Given the description of an element on the screen output the (x, y) to click on. 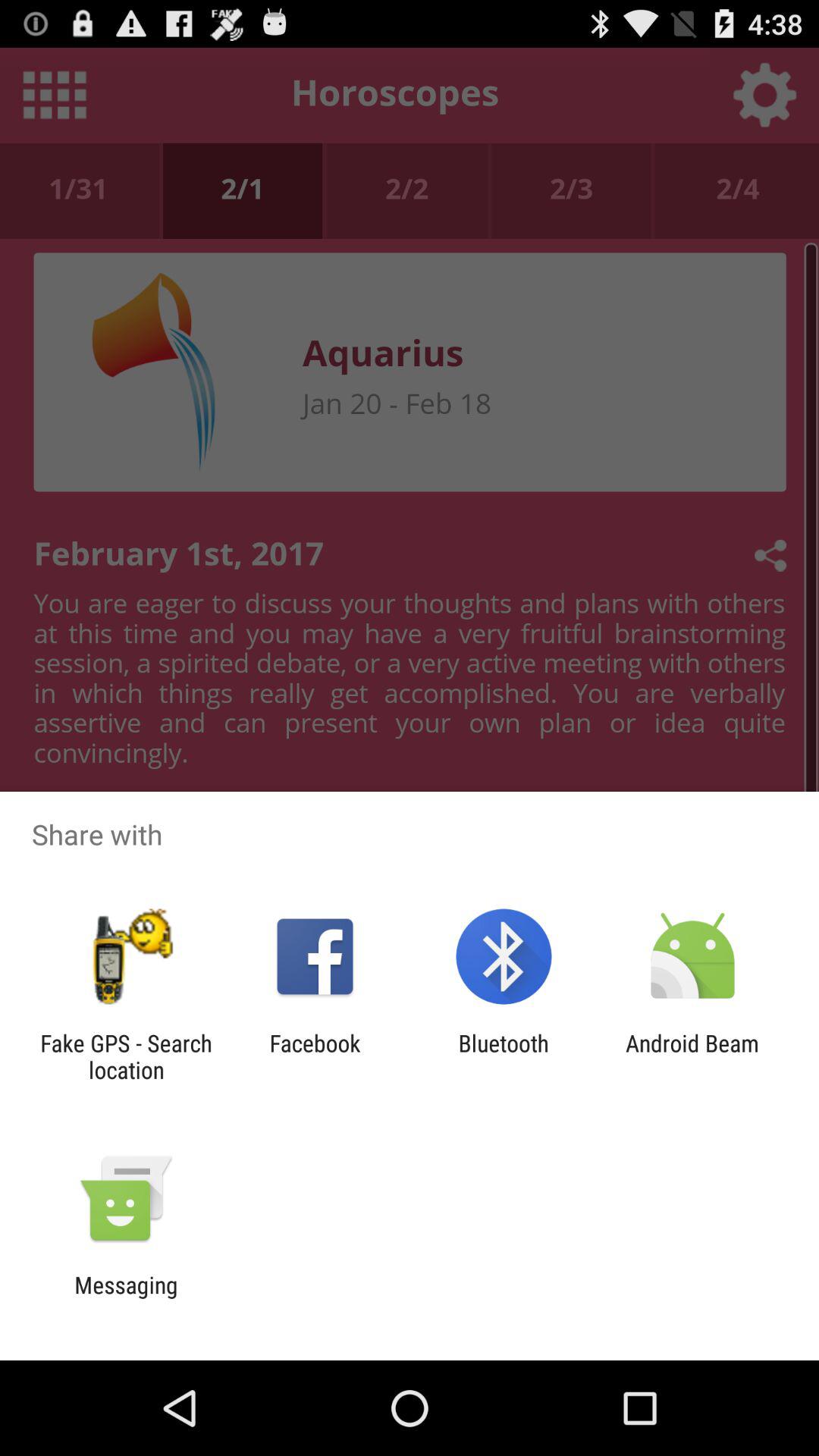
turn off app next to bluetooth item (692, 1056)
